Given the description of an element on the screen output the (x, y) to click on. 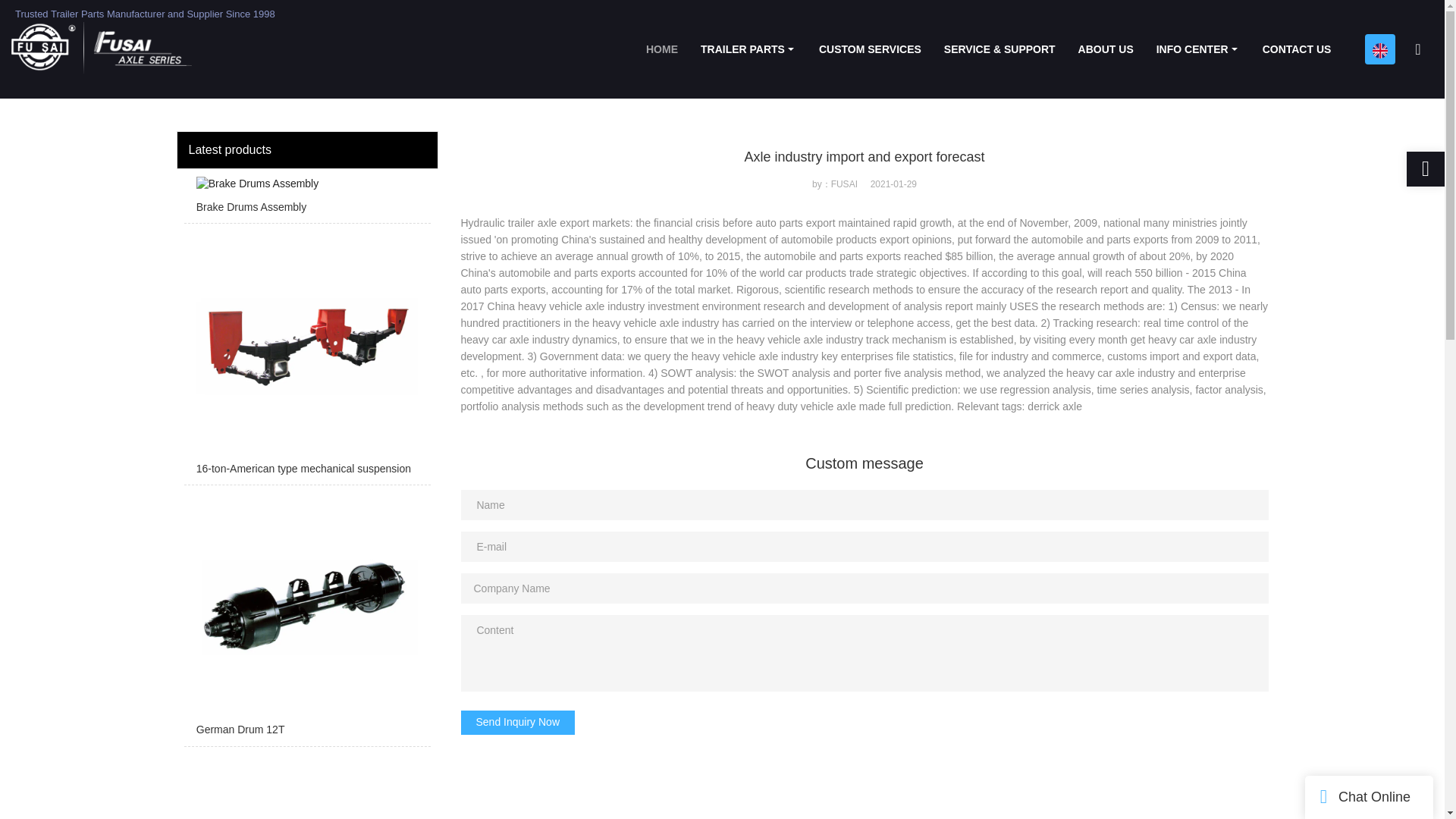
INFO CENTER (1197, 49)
ABOUT US (1105, 49)
Send Inquiry Now (518, 722)
Brake Drums Assembly (306, 199)
German Drum 12T (306, 619)
CONTACT US (1296, 49)
FUSAI (189, 14)
TRAILER PARTS (748, 49)
16-ton-American type mechanical suspension (306, 357)
CUSTOM SERVICES (870, 49)
